Given the description of an element on the screen output the (x, y) to click on. 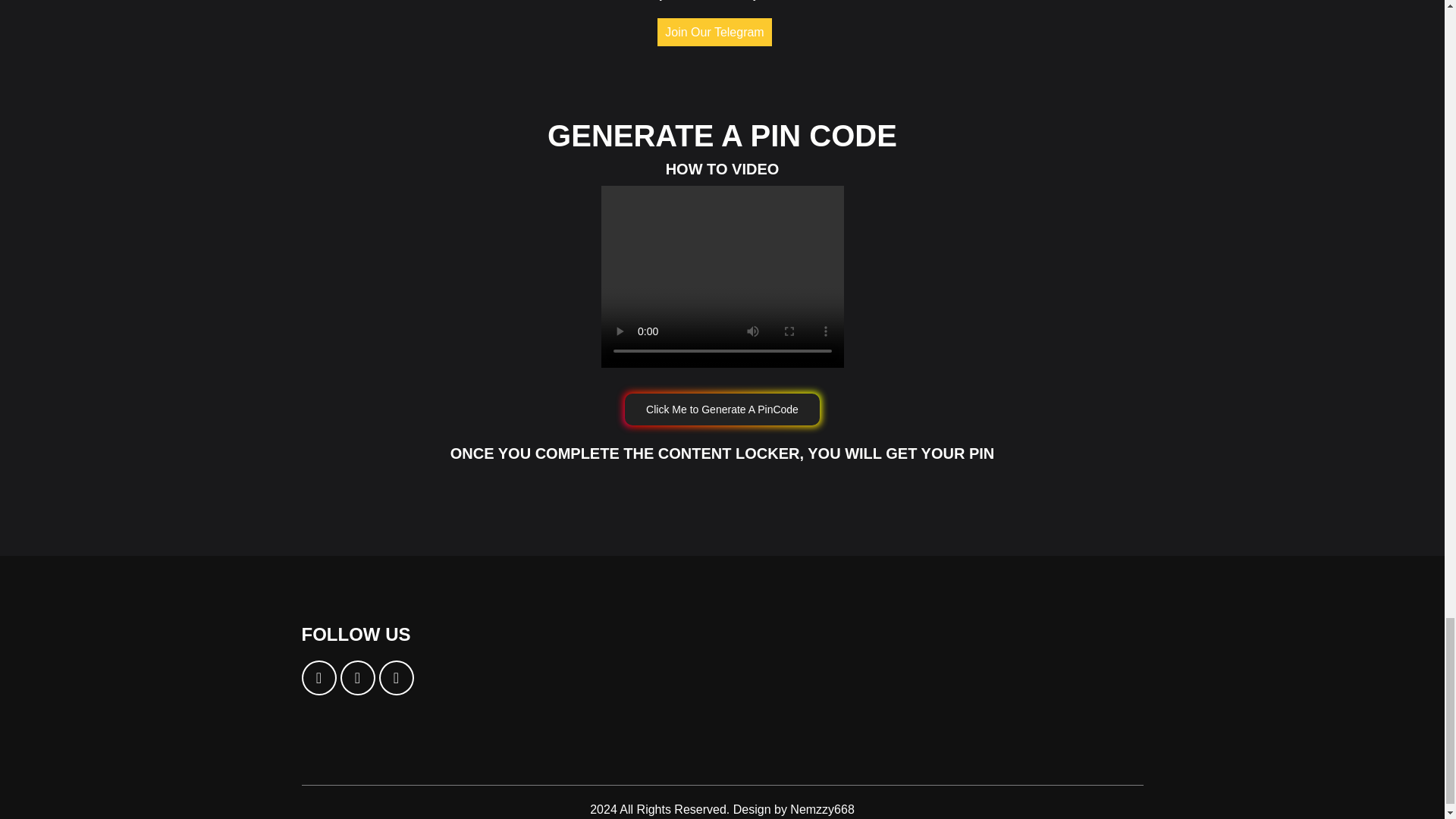
Join Our Telegram (714, 31)
Click Me to Generate A PinCode (721, 409)
Click Me to Generate A PinCode (721, 408)
